Given the description of an element on the screen output the (x, y) to click on. 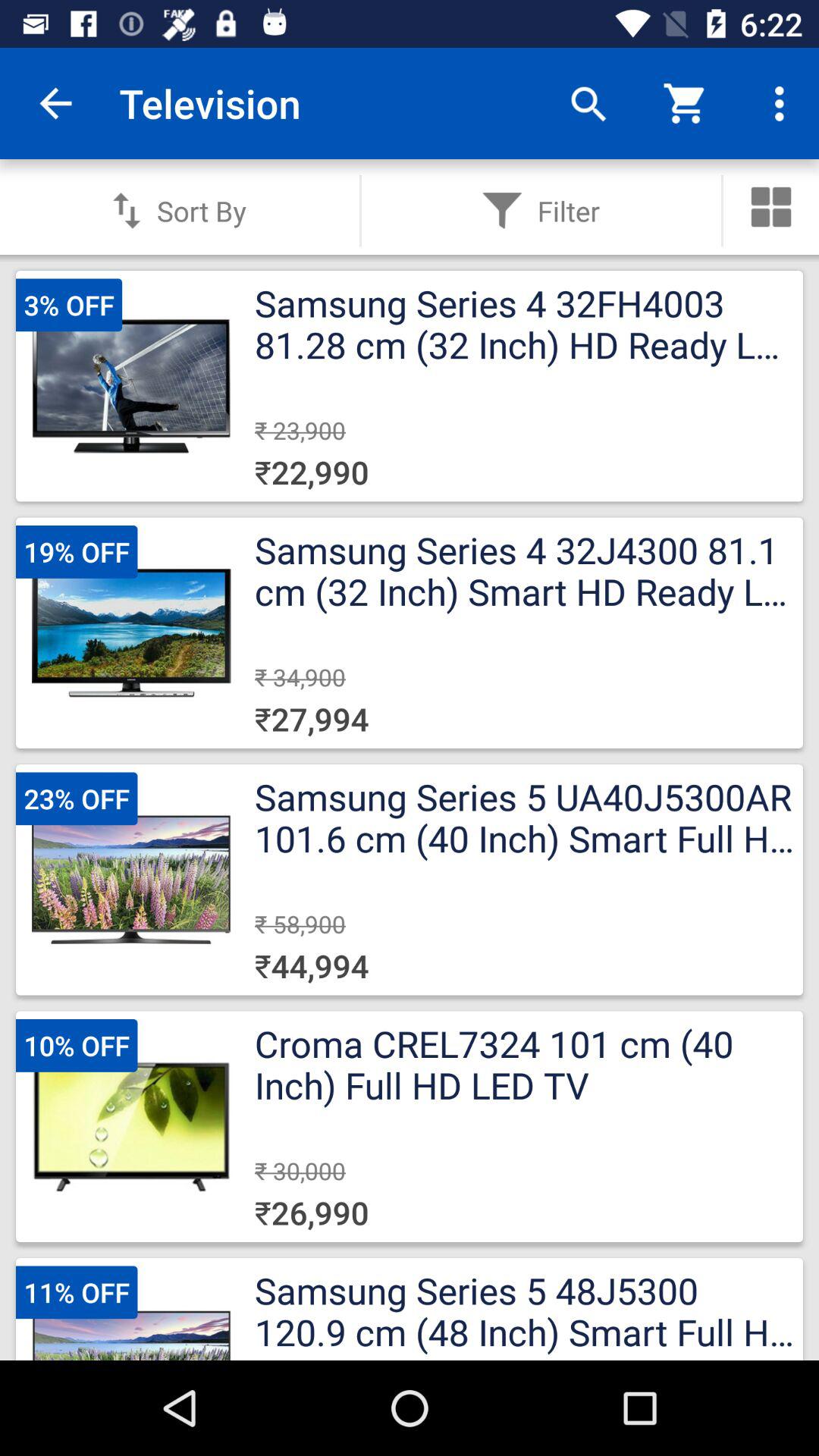
click on the second icon right to the text television (685, 103)
select the third row (409, 879)
click on the first row (409, 386)
click on image of samsung series 5 (130, 879)
